Given the description of an element on the screen output the (x, y) to click on. 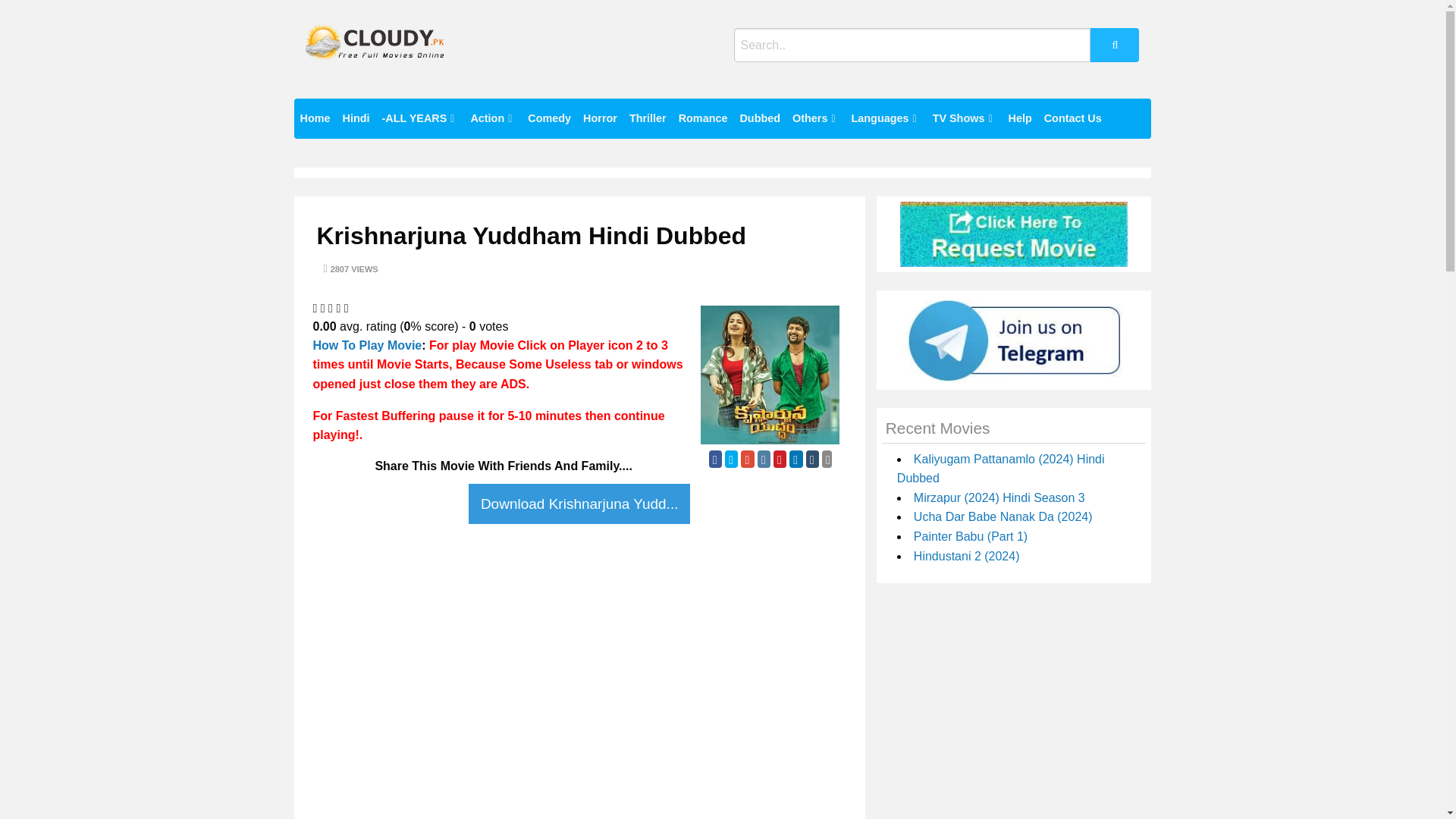
poor (322, 308)
bad (315, 308)
regular (331, 308)
Hindi (355, 118)
good (338, 308)
Cloudy.pk (342, 72)
gorgeous (346, 308)
-ALL YEARS (419, 118)
Home (315, 118)
